Given the description of an element on the screen output the (x, y) to click on. 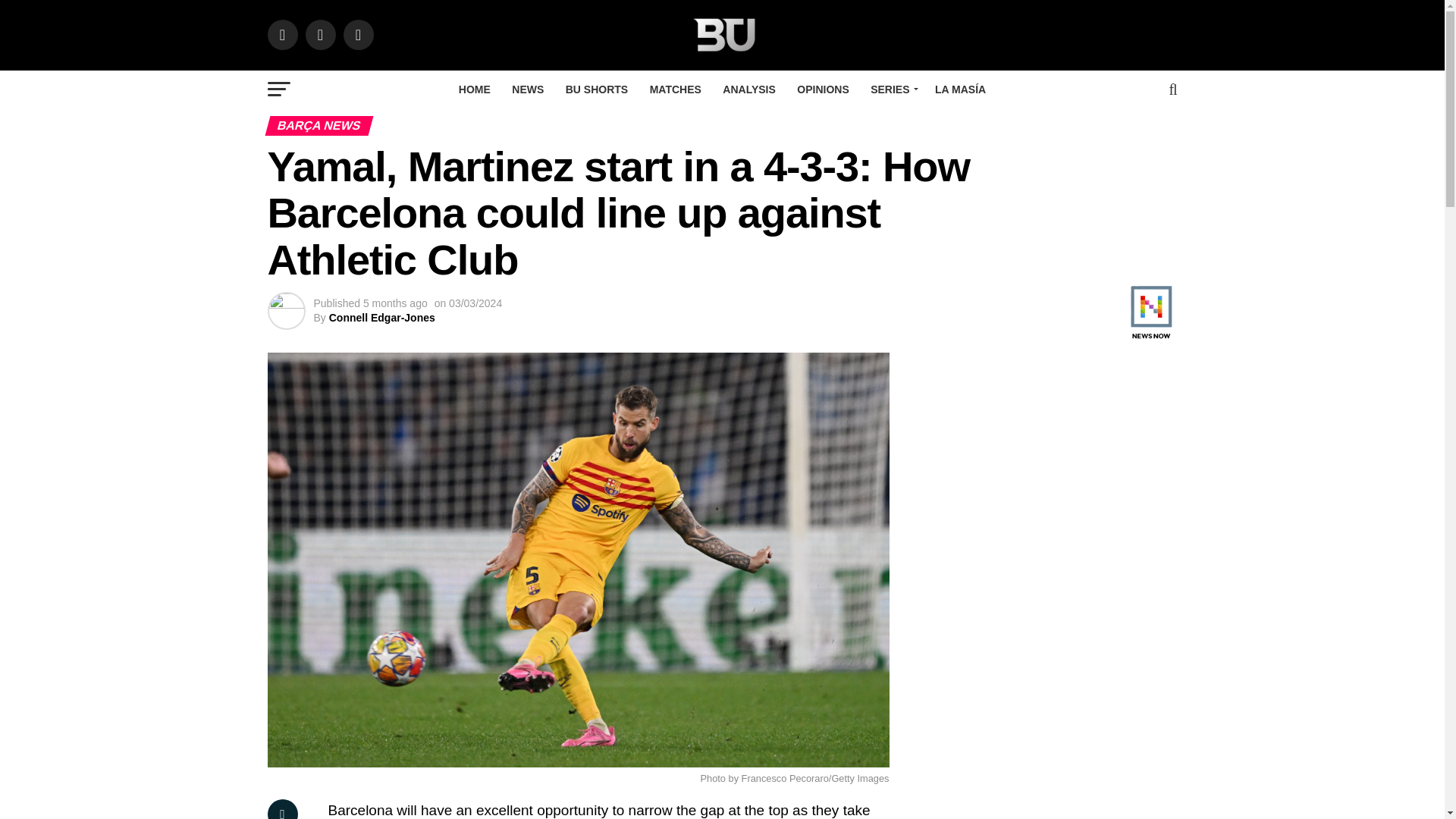
BU SHORTS (596, 89)
Posts by Connell Edgar-Jones (382, 317)
NEWS (527, 89)
HOME (474, 89)
